Given the description of an element on the screen output the (x, y) to click on. 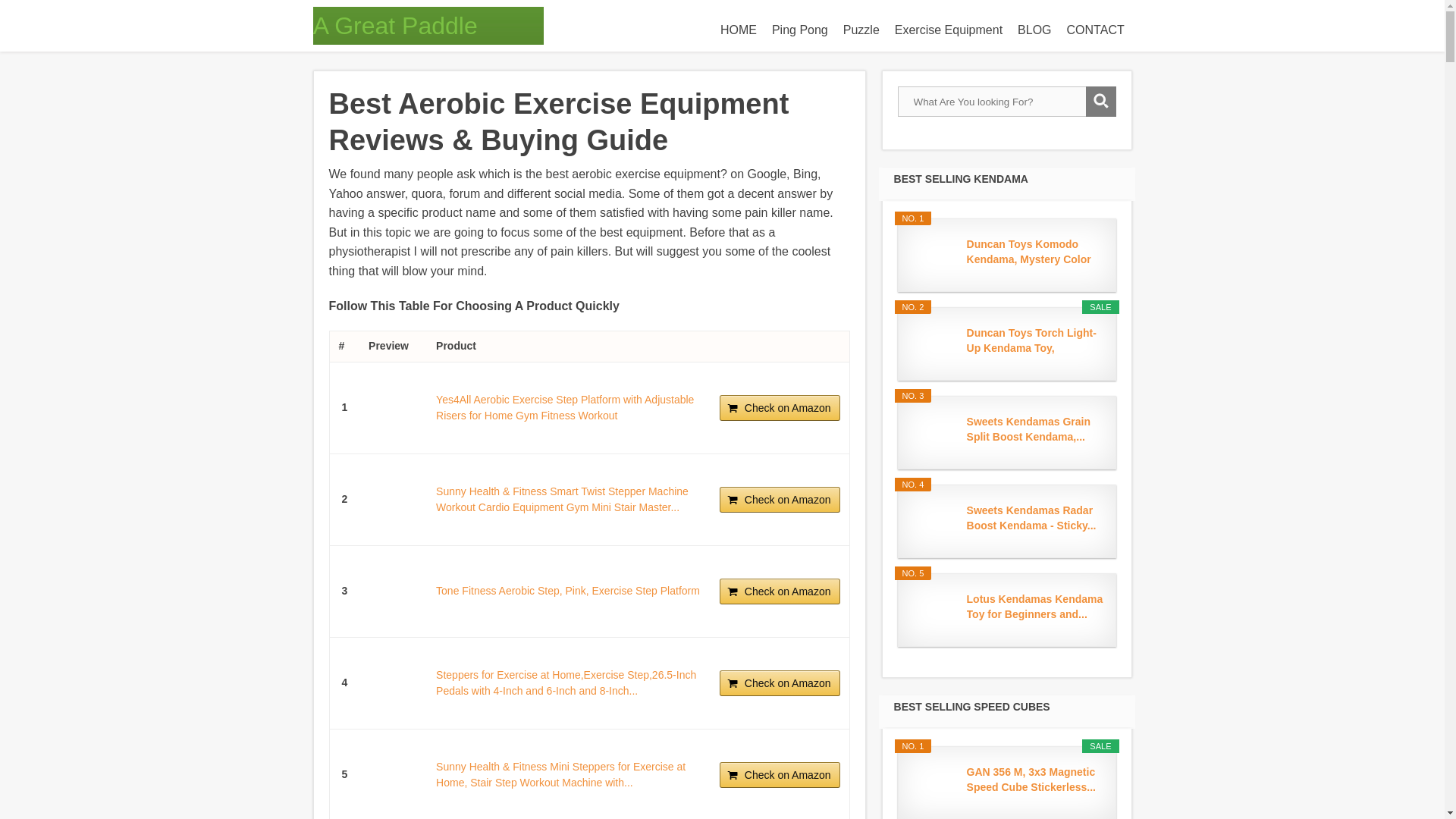
Tone Fitness Aerobic Step, Pink, Exercise Step Platform (567, 590)
HOME (738, 30)
Ping Pong (799, 30)
Check on Amazon (780, 683)
Check on Amazon (780, 591)
A Great Paddle (395, 25)
Puzzle (860, 30)
Check on Amazon (780, 407)
